Given the description of an element on the screen output the (x, y) to click on. 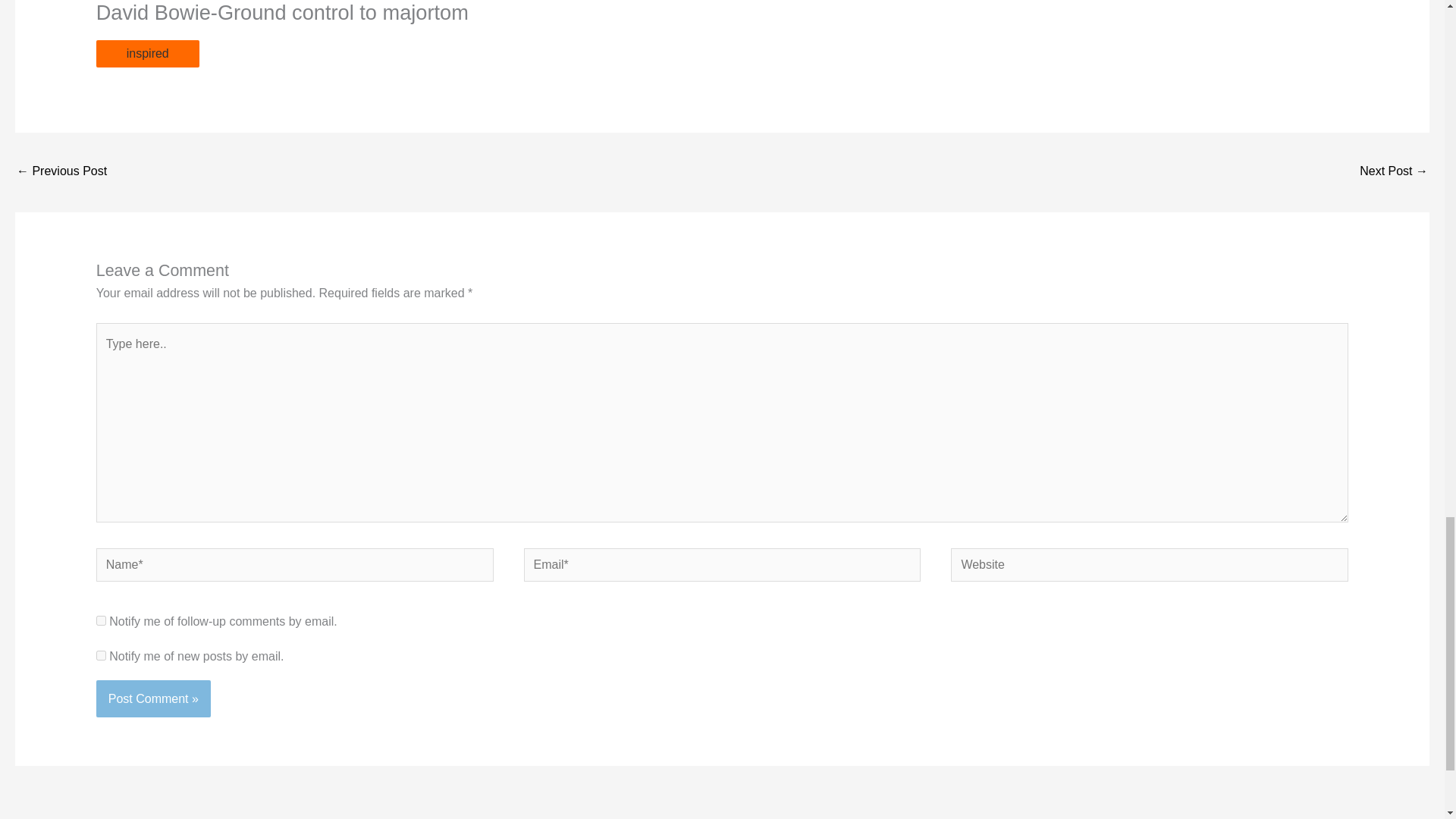
subscribe (101, 620)
subscribe (101, 655)
inspired (147, 53)
Hope and nihilism (1393, 172)
"Angela"-A new Amalee Original! (61, 172)
